Given the description of an element on the screen output the (x, y) to click on. 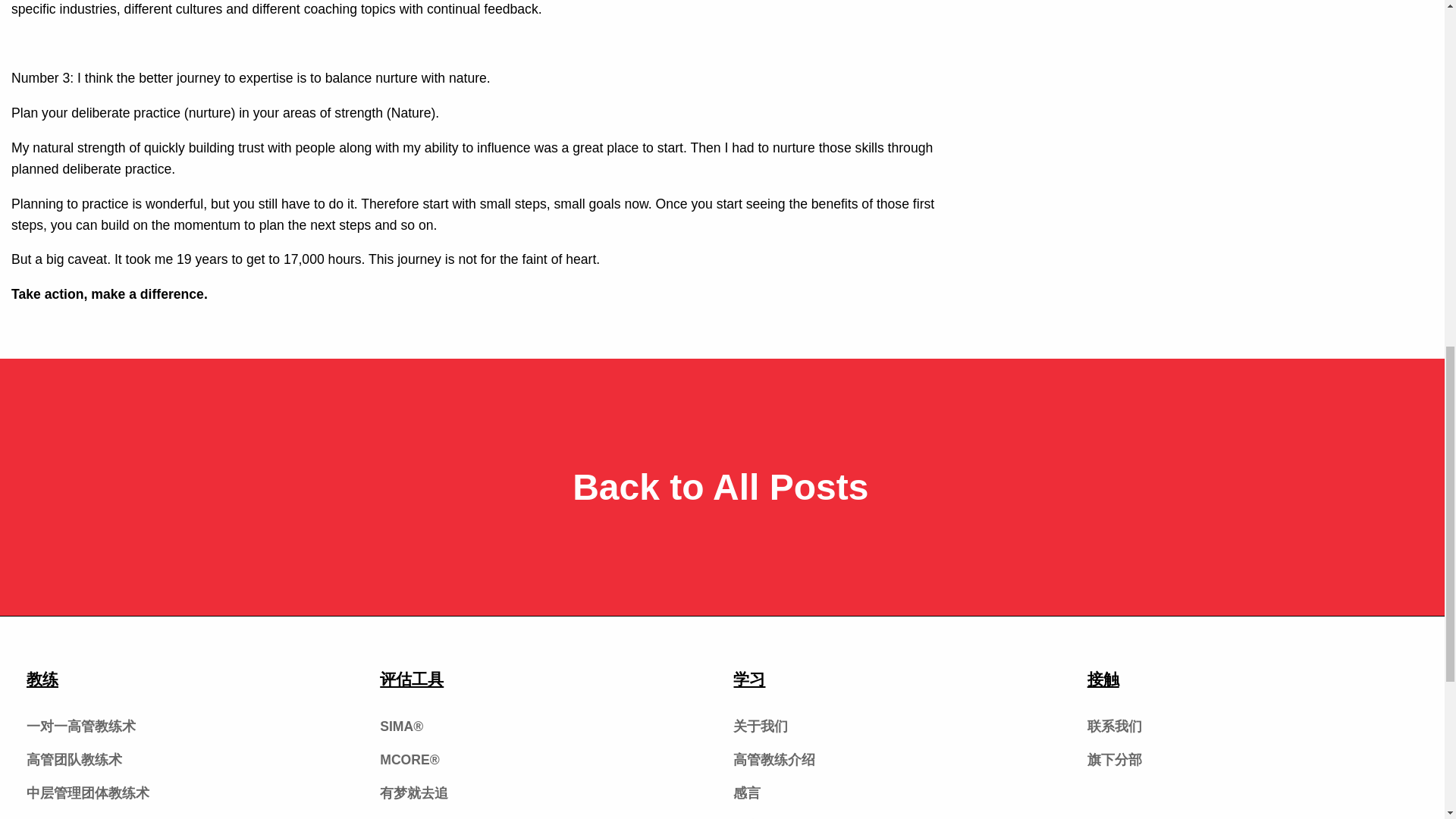
Back to All Posts (722, 486)
